Given the description of an element on the screen output the (x, y) to click on. 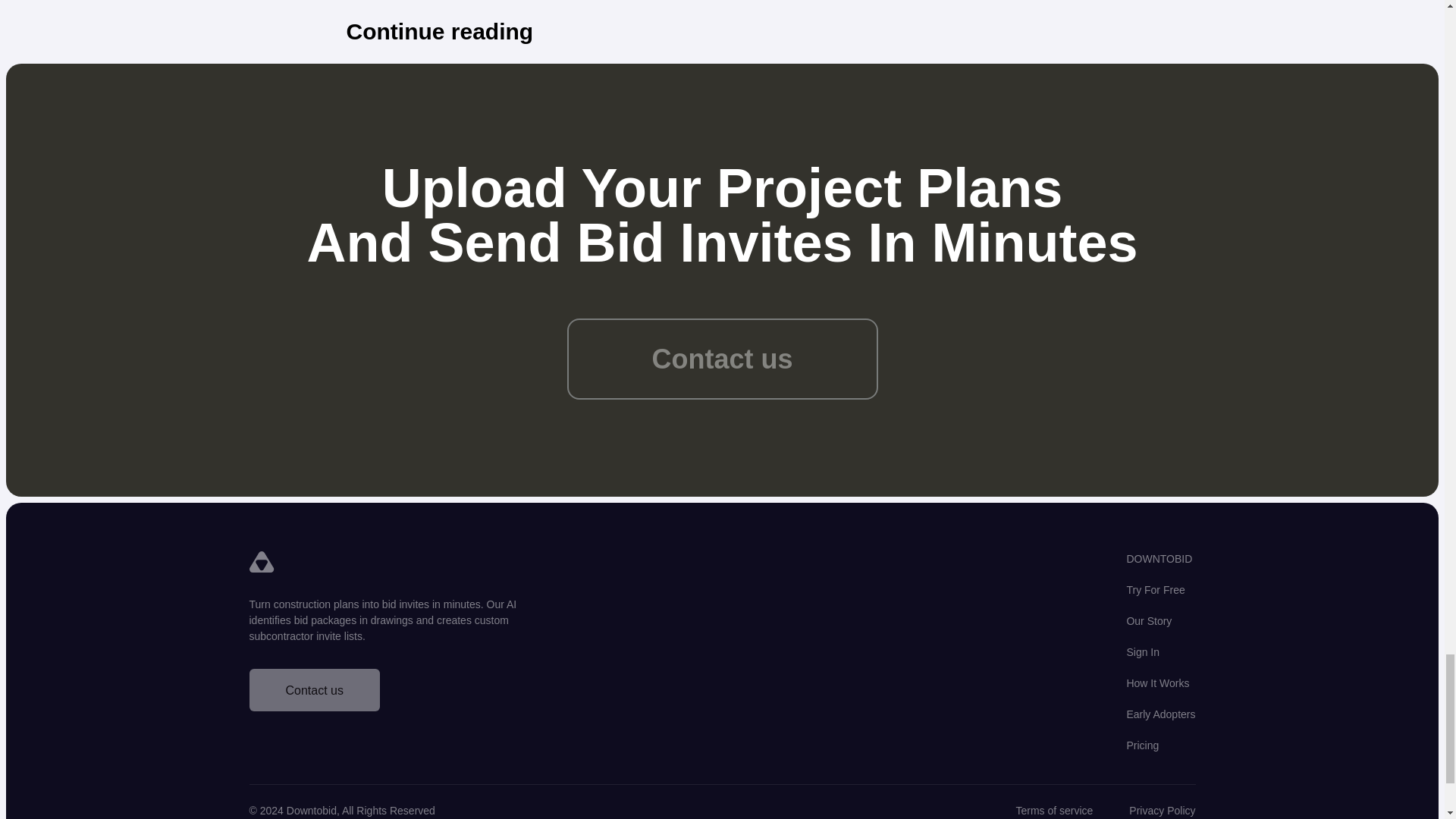
Contact us (404, 697)
Privacy Policy (1162, 810)
Contact us (722, 358)
Early Adopters (1160, 714)
Terms of service (1053, 810)
How It Works (1157, 683)
Our Story (1148, 621)
Pricing (1141, 745)
Try For Free (1155, 589)
Contact us (313, 690)
